Given the description of an element on the screen output the (x, y) to click on. 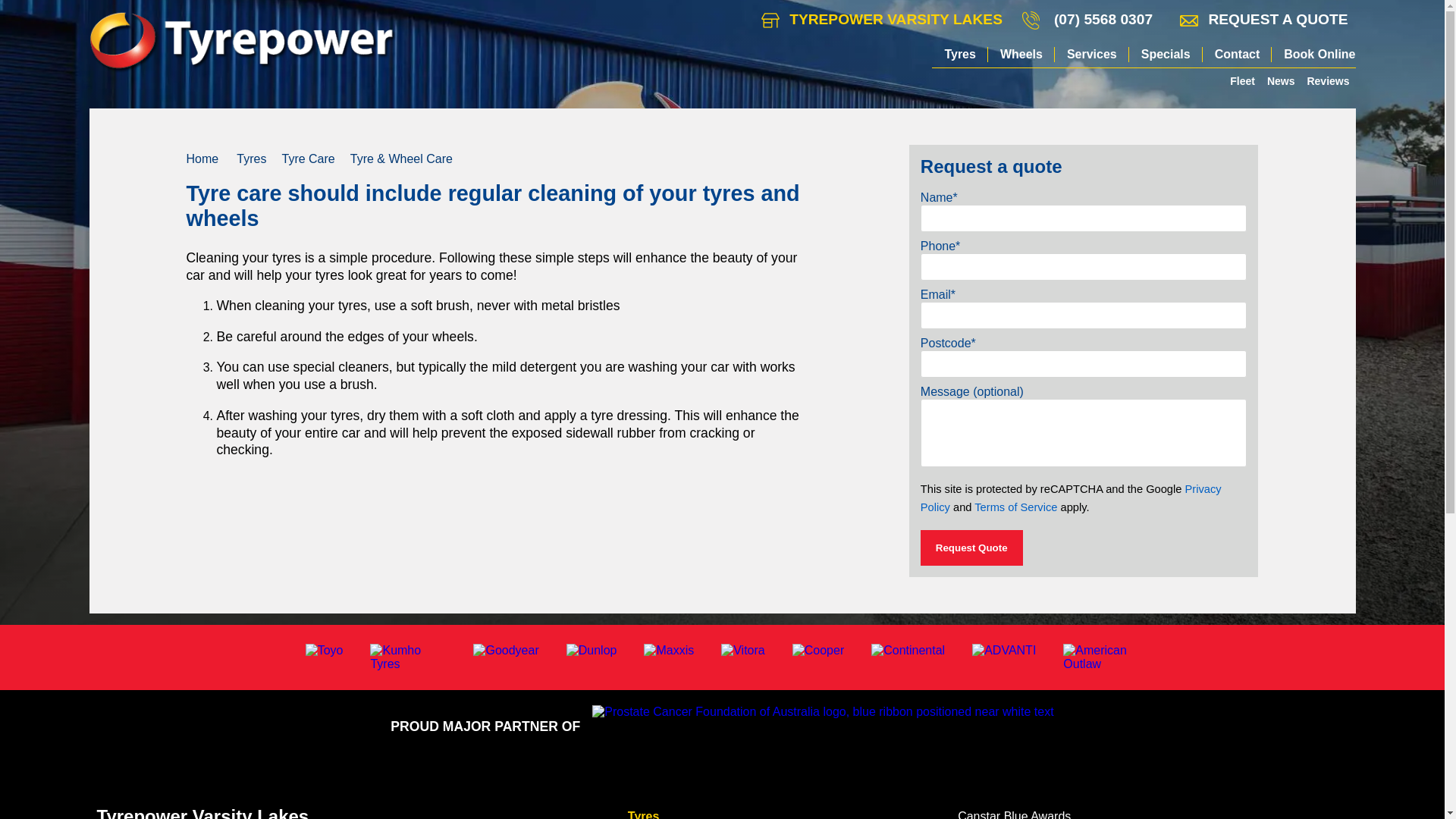
REQUEST A QUOTE (1263, 20)
Tyres (959, 54)
Specials (1165, 54)
TYREPOWER VARSITY LAKES (882, 20)
Wheels (1021, 54)
Contact Tyrepower Varsity Lakes (882, 20)
Services (1091, 54)
Book Online (1313, 54)
Click to call now! (1103, 20)
Contact (1237, 54)
